Given the description of an element on the screen output the (x, y) to click on. 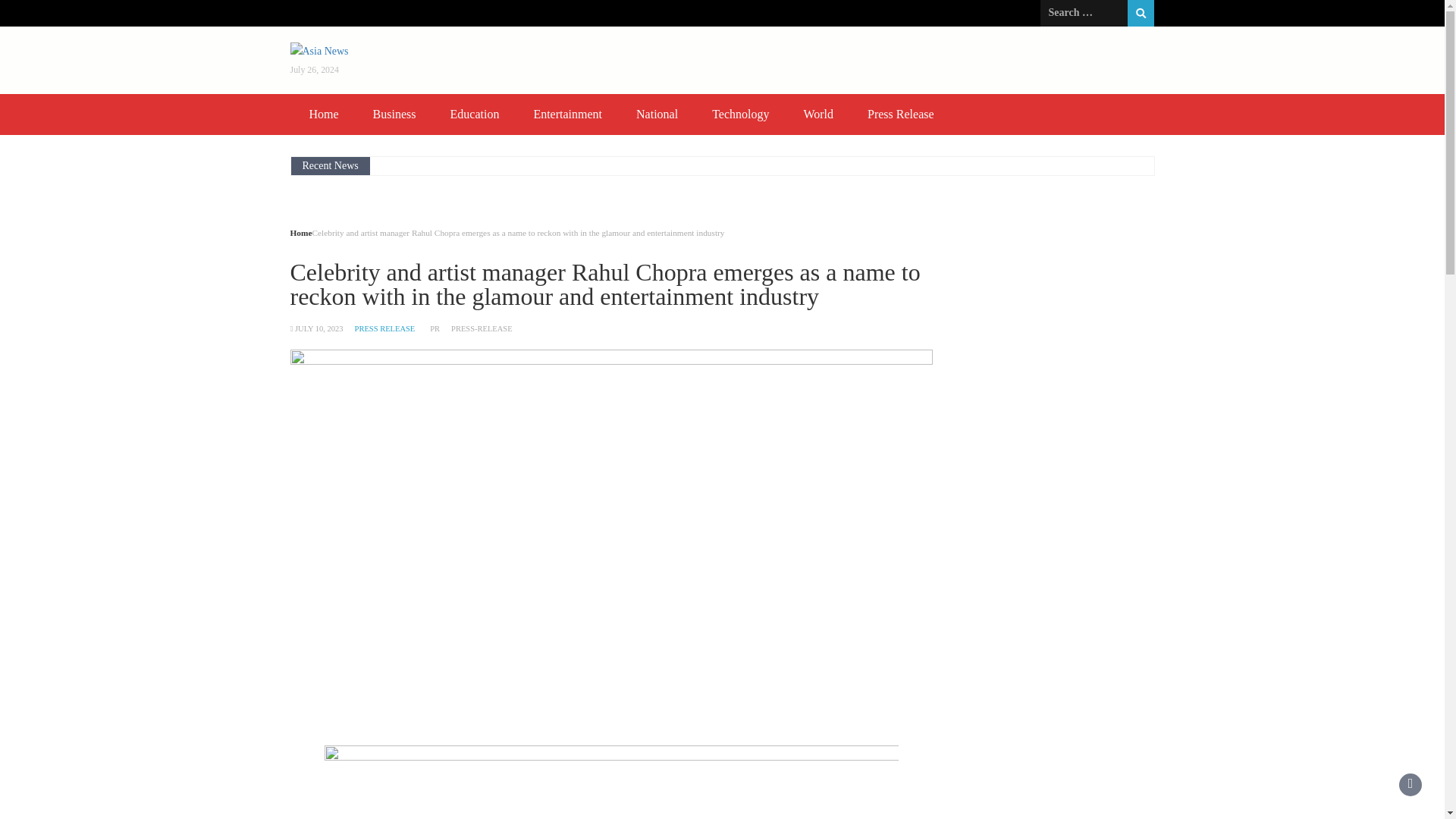
Search (1140, 13)
Entertainment (567, 114)
Press Release (900, 114)
National (657, 114)
Business (394, 114)
PRESS-RELEASE (481, 328)
Home (323, 114)
Search (1140, 13)
Search (1140, 13)
PR (434, 328)
Technology (740, 114)
Search for: (1083, 12)
JULY 10, 2023 (319, 328)
Home (300, 232)
PRESS RELEASE (384, 328)
